Given the description of an element on the screen output the (x, y) to click on. 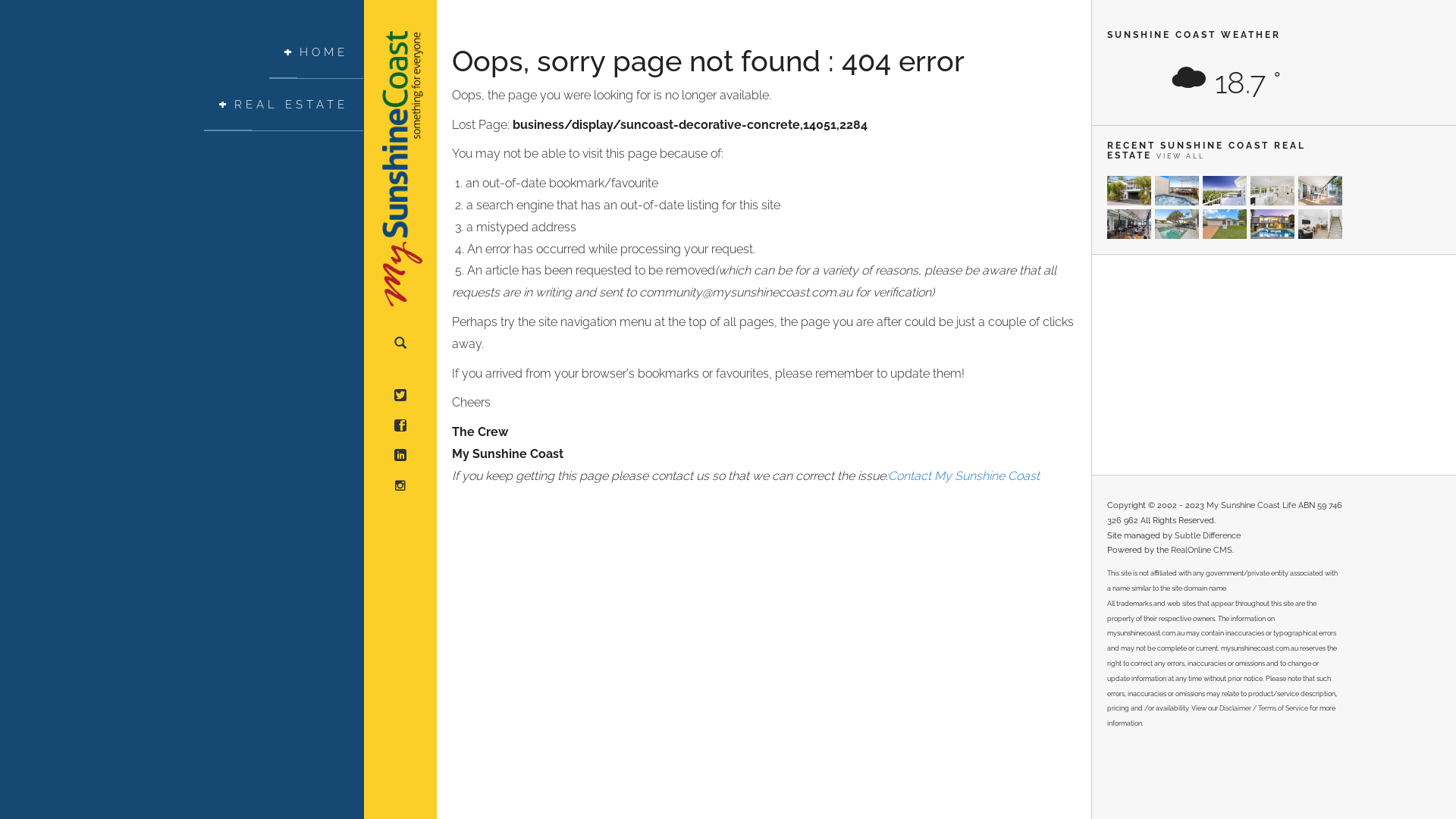
Disclaimer / Terms of Service Element type: text (1263, 708)
REAL ESTATE Element type: text (283, 104)
HOME Element type: text (316, 52)
VIEW ALL Element type: text (1180, 156)
Subtle Difference Element type: text (1207, 535)
Advertisement Element type: hover (1224, 364)
My Sunshine Coast Life Element type: text (1250, 505)
RealOnline CMS Element type: text (1201, 550)
Contact My Sunshine Coast Element type: text (963, 475)
